Given the description of an element on the screen output the (x, y) to click on. 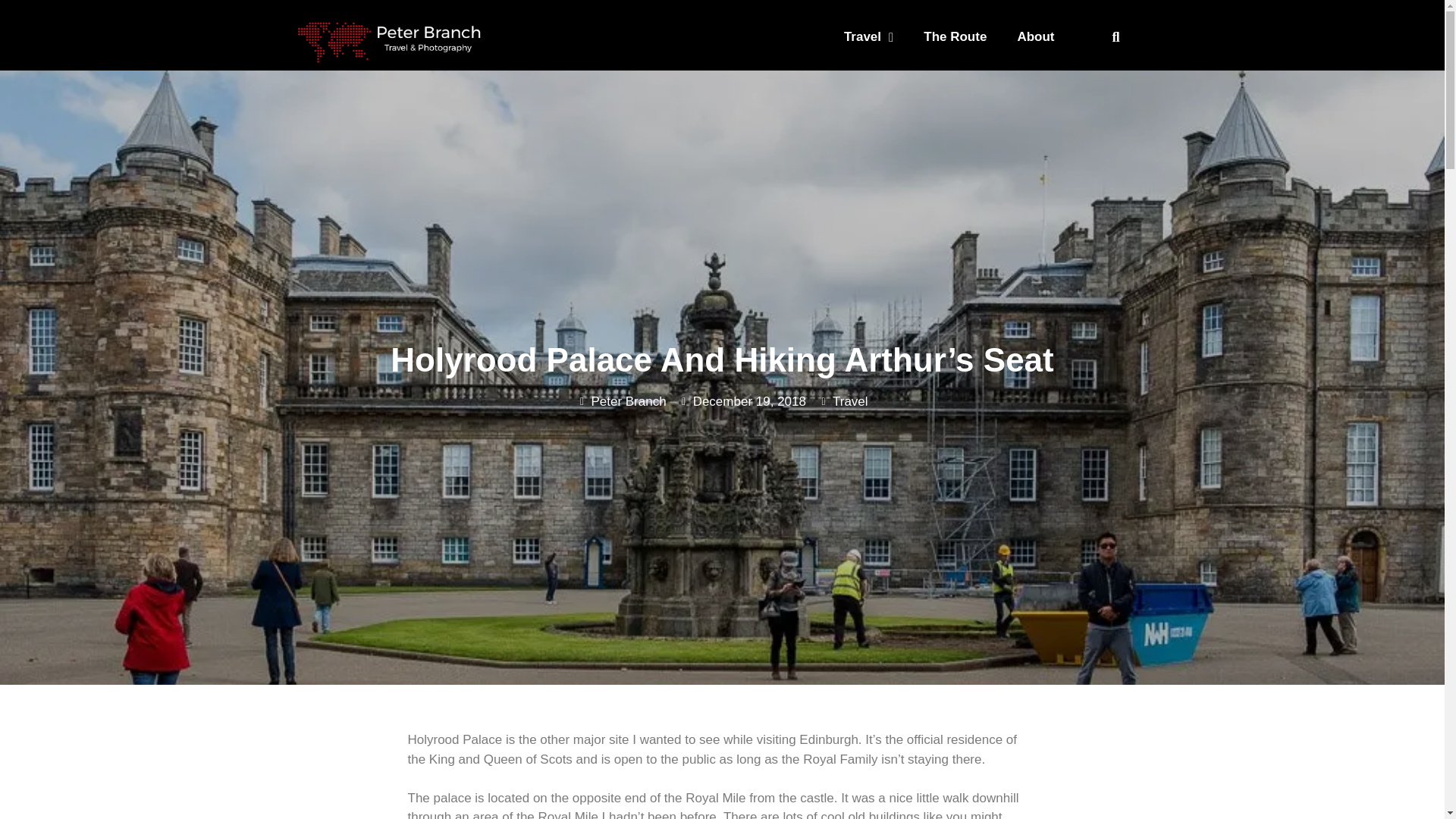
Travel (868, 36)
About (1034, 36)
The Route (954, 36)
Travel (849, 400)
